Given the description of an element on the screen output the (x, y) to click on. 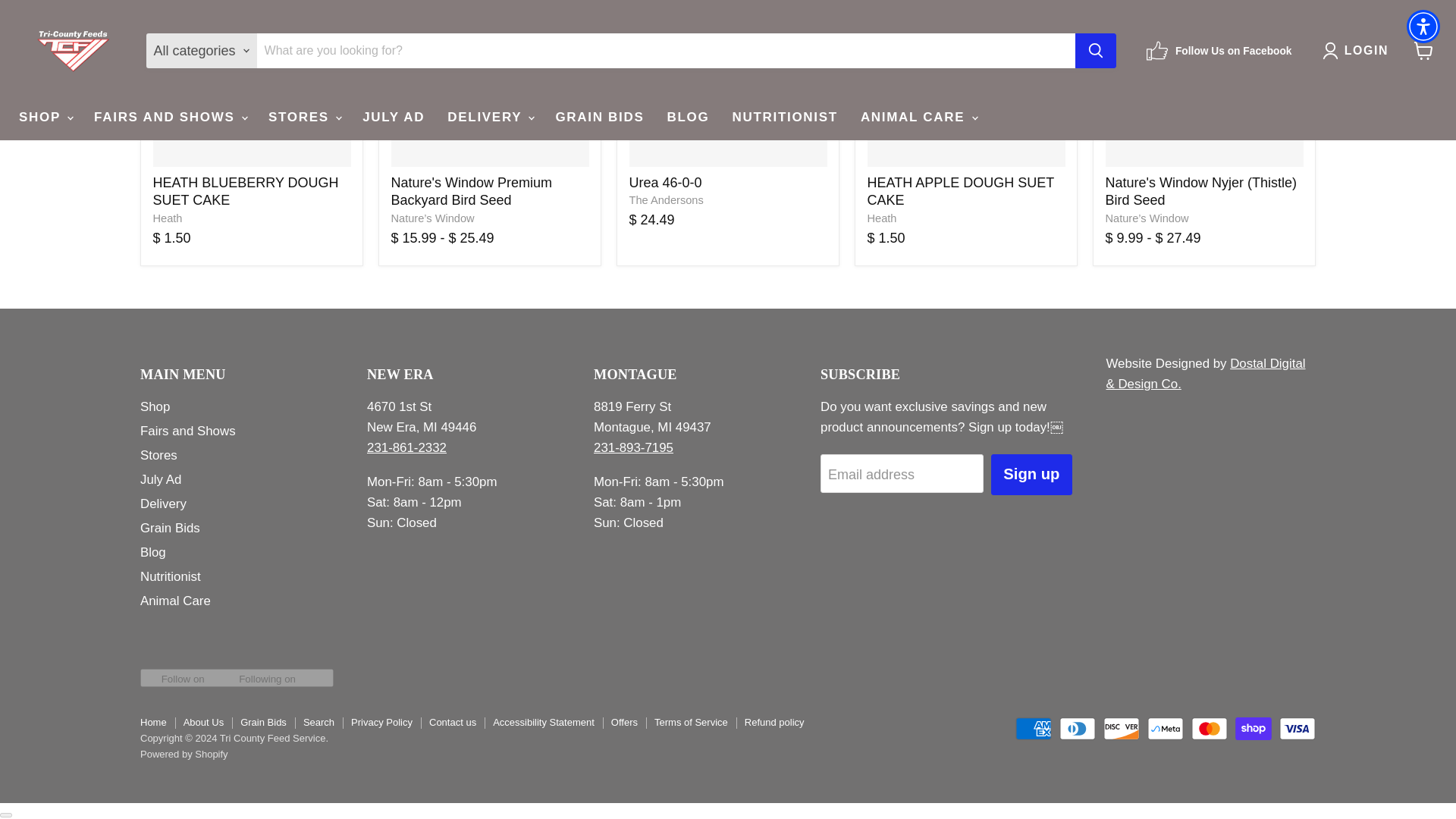
tel:231-893-7195 (633, 447)
Heath (167, 218)
Heath (881, 218)
tel:231-861-2332 (406, 447)
The Andersons (665, 200)
